Given the description of an element on the screen output the (x, y) to click on. 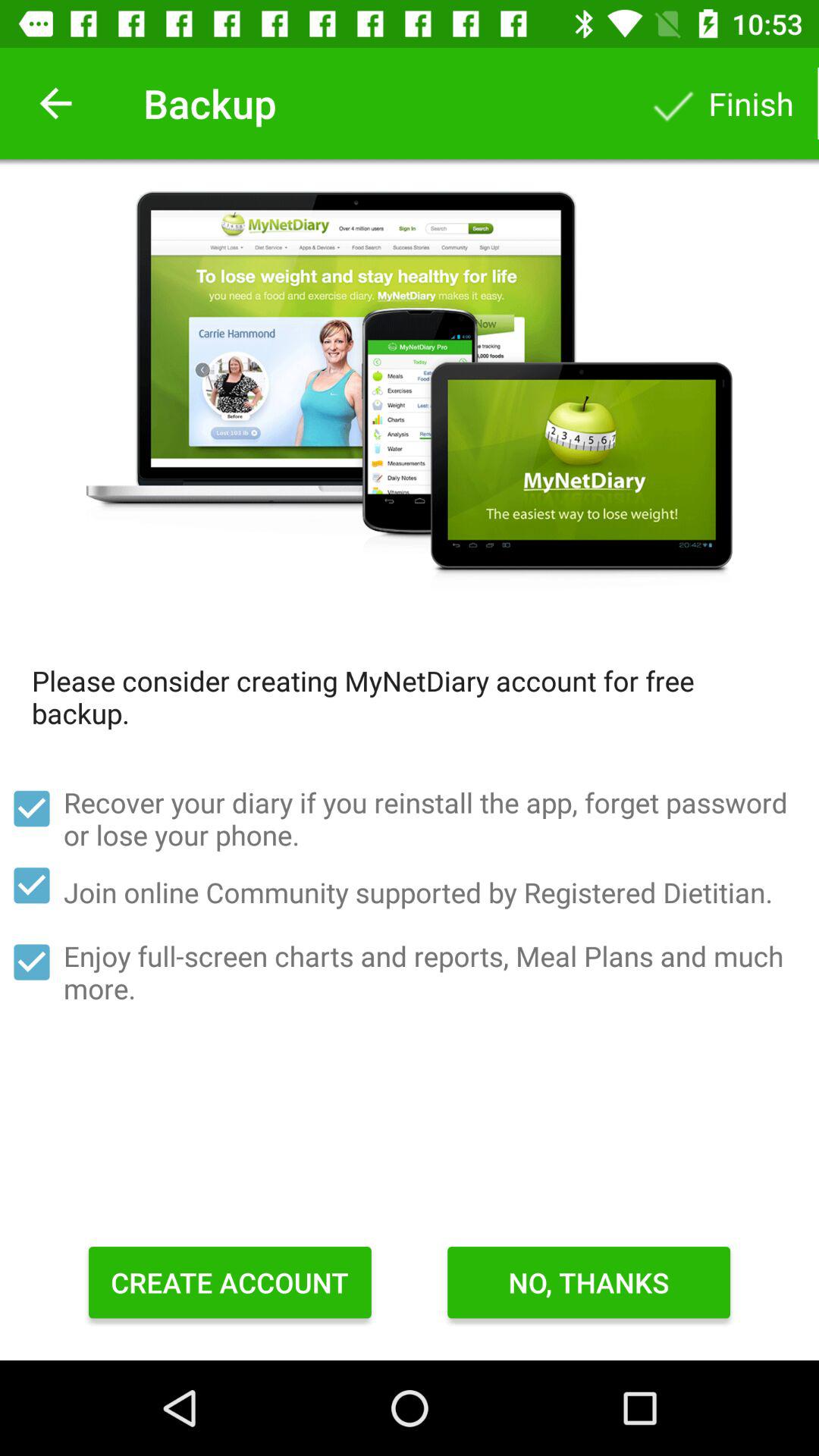
turn on item below the enjoy full screen item (588, 1282)
